Given the description of an element on the screen output the (x, y) to click on. 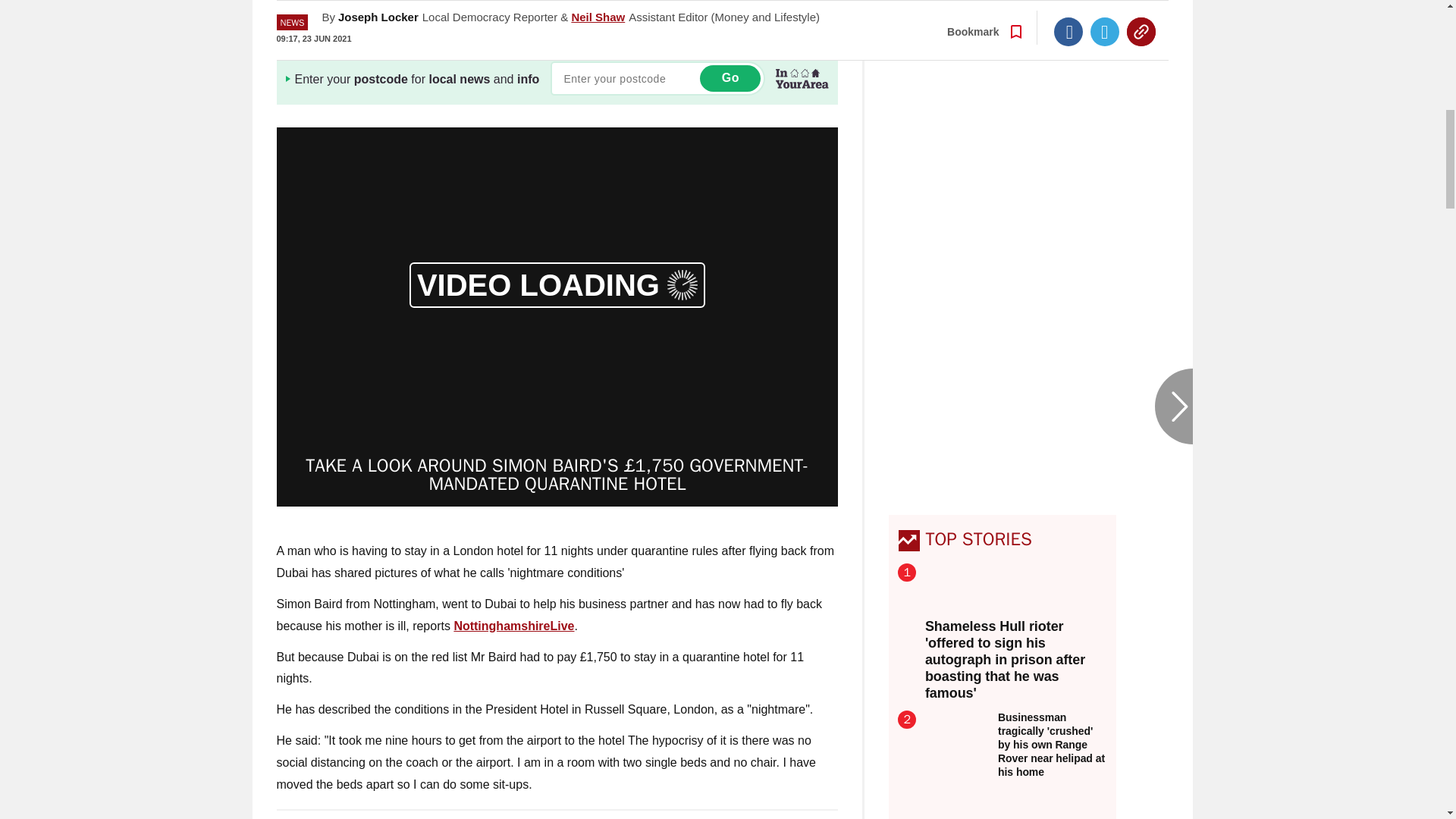
Twitter (1104, 10)
Facebook (1068, 10)
Go (730, 78)
